Given the description of an element on the screen output the (x, y) to click on. 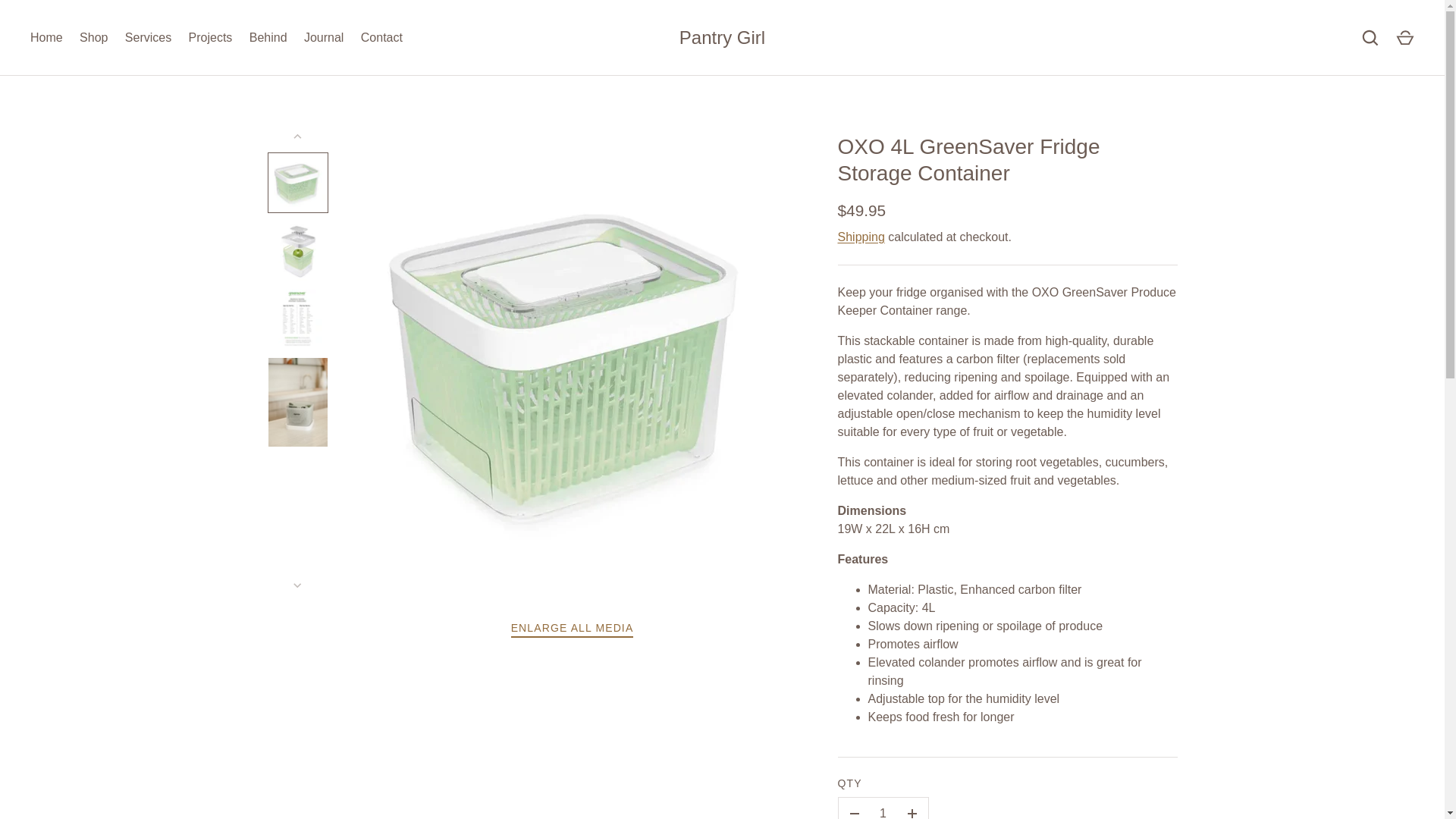
Shop (93, 37)
1 (883, 808)
Home (46, 37)
